Given the description of an element on the screen output the (x, y) to click on. 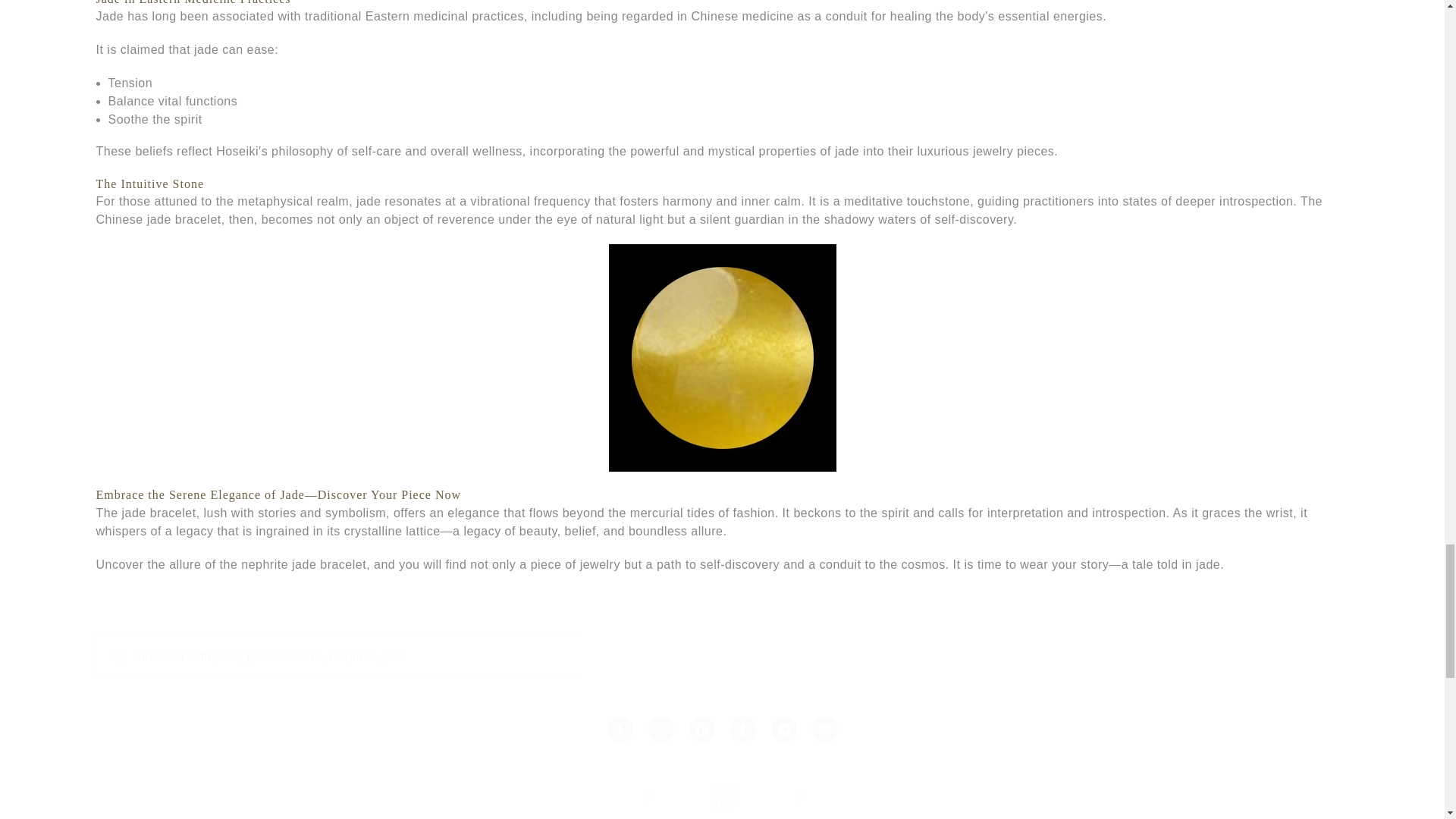
Share on Tumblr (742, 729)
jade bracelet (284, 657)
Share on Facebook (619, 729)
bracelet with jade (189, 657)
Share on Telegram (783, 729)
Share on Twitter (659, 729)
Nephrite jade (367, 657)
The Properties of Gemstone Trees: Which One's Benefit You? (797, 796)
Share on Pinterest (701, 729)
Share on Email (823, 729)
